Given the description of an element on the screen output the (x, y) to click on. 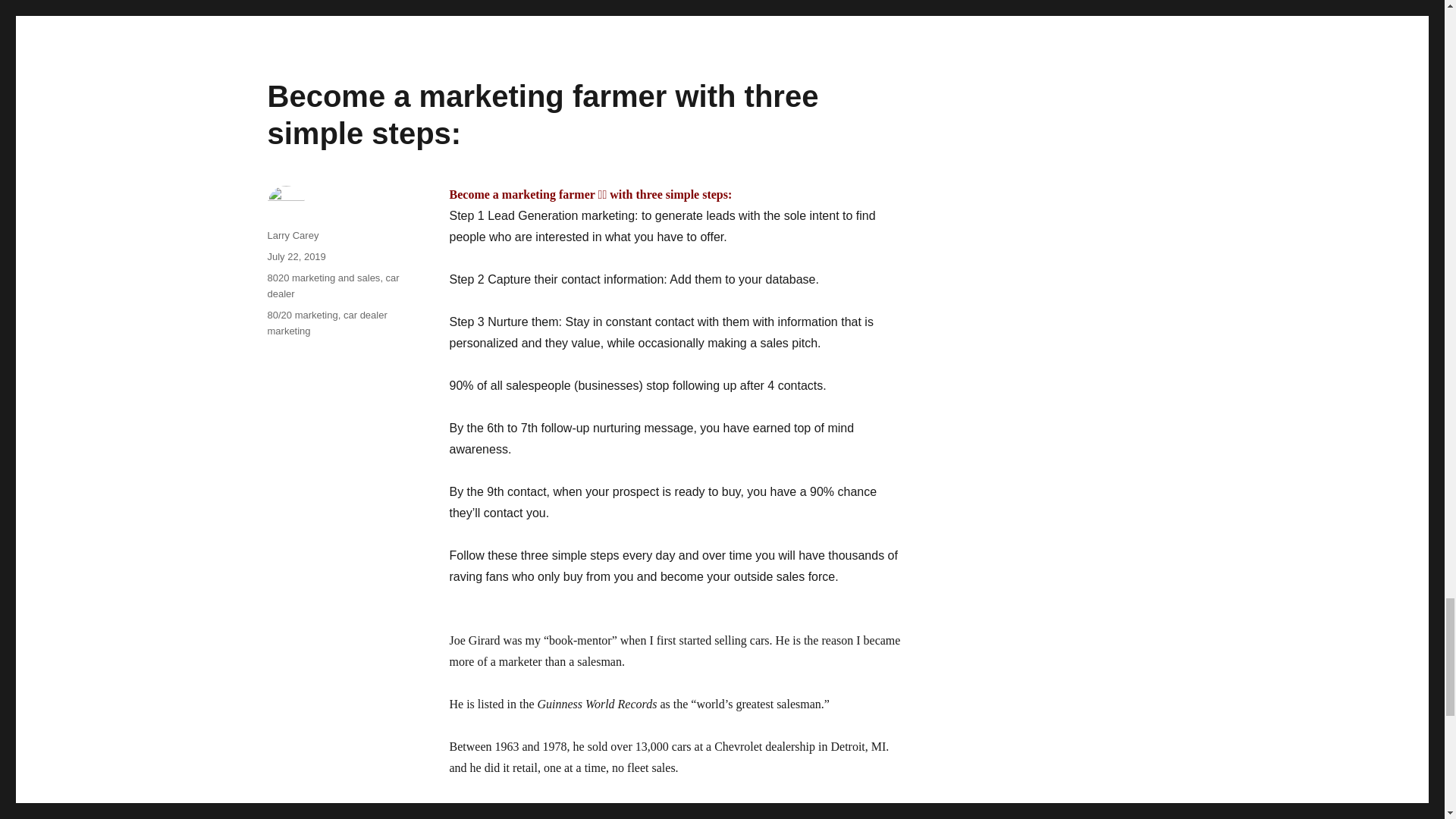
car dealer (332, 285)
Larry Carey (292, 235)
car dealer marketing (326, 322)
July 22, 2019 (295, 256)
Become a marketing farmer with three simple steps: (542, 114)
8020 marketing and sales (323, 277)
